Given the description of an element on the screen output the (x, y) to click on. 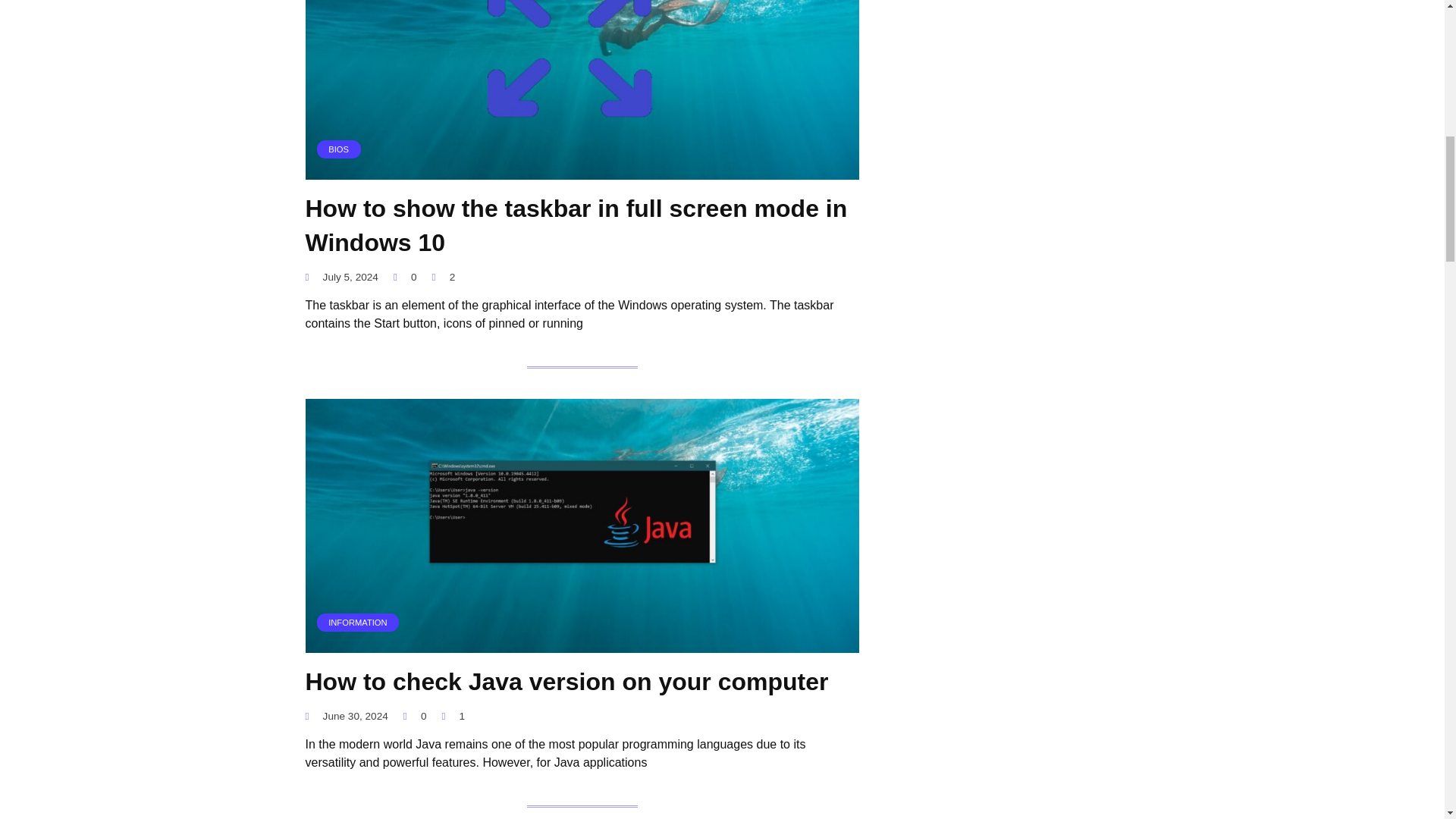
BIOS (581, 169)
How to show the taskbar in full screen mode in Windows 10 (575, 225)
How to check Java version on your computer (566, 681)
INFORMATION (581, 643)
